Given the description of an element on the screen output the (x, y) to click on. 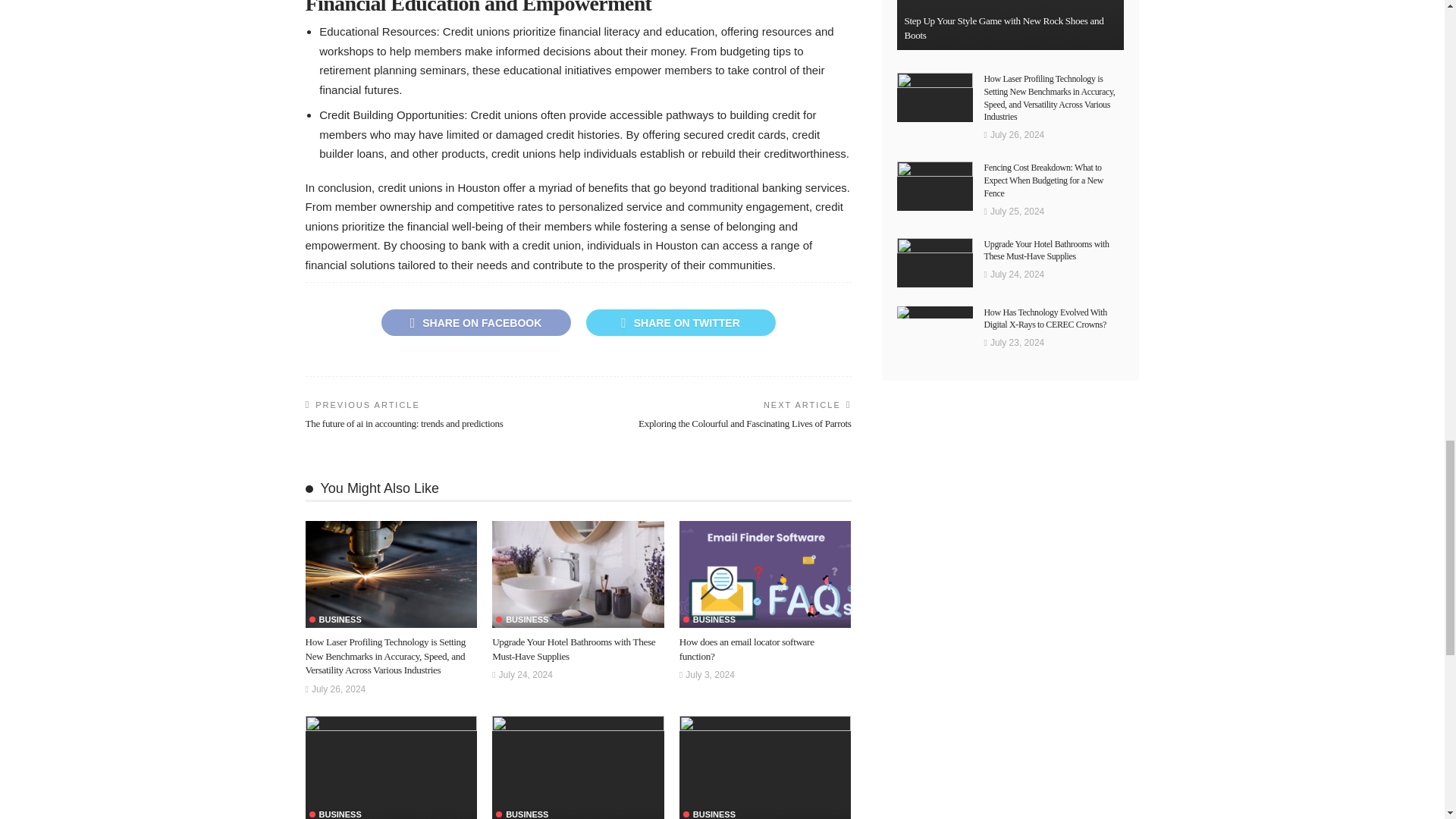
The future of ai in accounting: trends and predictions (403, 423)
